Given the description of an element on the screen output the (x, y) to click on. 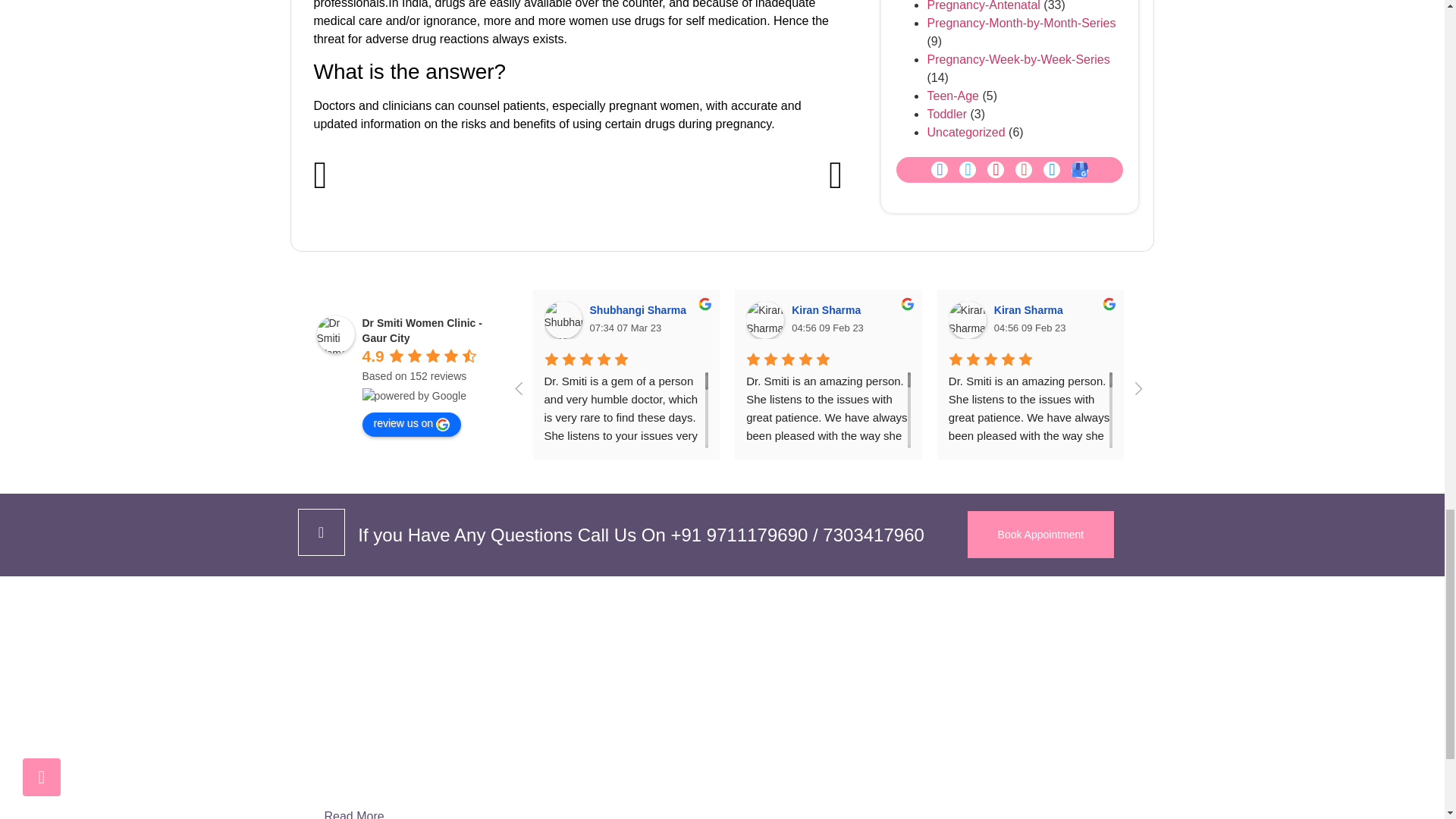
YASHI SRIVASTAVA (1371, 320)
Kiran Sharma (968, 320)
Dr Smiti Women Clinic - Gaur City (336, 333)
Kiran Sharma (764, 320)
Shubhangi Sharma (563, 320)
Radhey Arora (1169, 320)
powered by Google (413, 395)
